Given the description of an element on the screen output the (x, y) to click on. 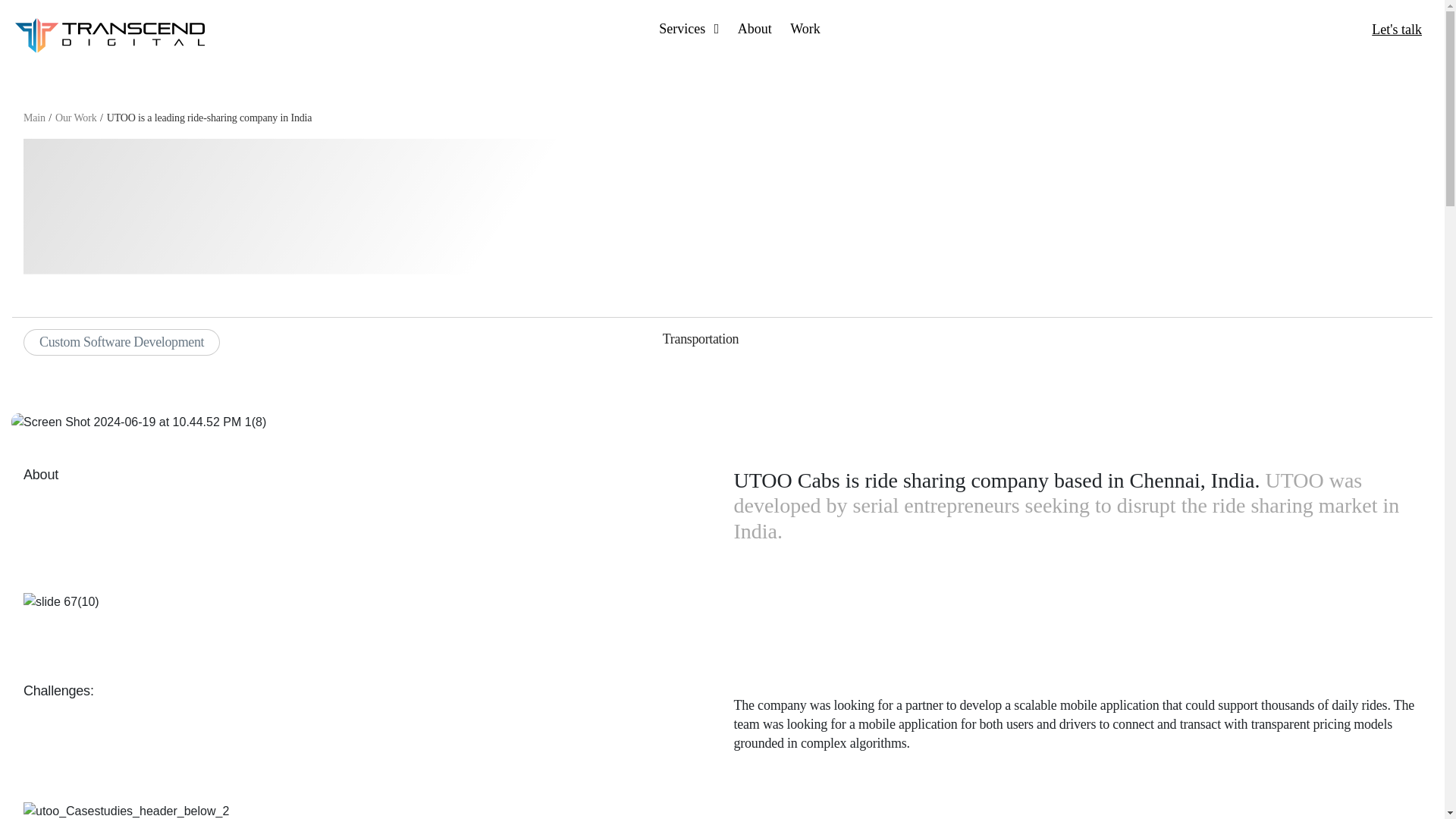
About (754, 28)
Services (689, 28)
transcend-digital-logo (109, 35)
Work (805, 28)
Let's talk (1396, 28)
